Given the description of an element on the screen output the (x, y) to click on. 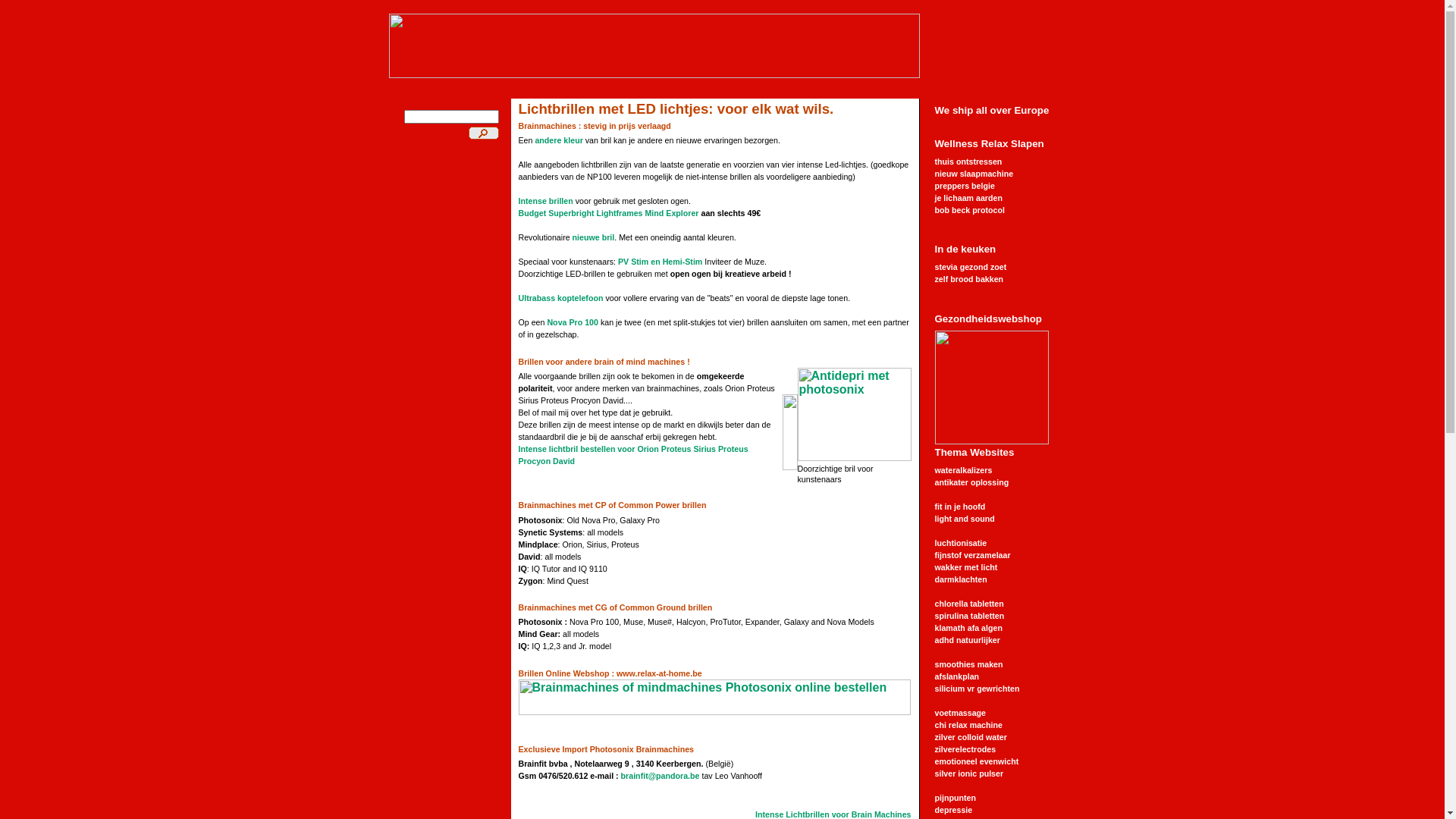
zilver colloid water Element type: text (970, 736)
zelf brood bakken Element type: text (968, 278)
smoothies maken Element type: text (968, 663)
depressie Element type: text (953, 809)
Nova Pro 100 Element type: text (572, 321)
stevia gezond zoet Element type: text (970, 266)
zilverelectrodes Element type: text (964, 748)
Budget Superbright Lightframes Mind Explorer Element type: text (608, 212)
afslankplan Element type: text (956, 675)
light and sound Element type: text (964, 518)
luchtionisatie Element type: text (960, 542)
chi relax machine Element type: text (967, 724)
pijnpunten Element type: text (954, 797)
PV Stim en Hemi-Stim Element type: text (660, 261)
bob beck protocol Element type: text (969, 209)
thuis ontstressen Element type: text (967, 161)
preppers belgie Element type: text (964, 185)
Intense brillen Element type: text (545, 200)
brainfit@pandora.be Element type: text (660, 775)
nieuwe bril Element type: text (593, 236)
je lichaam aarden Element type: text (967, 197)
klamath afa algen Element type: text (967, 627)
darmklachten Element type: text (960, 578)
chlorella tabletten Element type: text (968, 603)
fit in je hoofd Element type: text (959, 506)
fijnstof verzamelaar Element type: text (972, 554)
Ultrabass koptelefoon Element type: text (560, 297)
wateralkalizers Element type: text (962, 469)
silicium vr gewrichten Element type: text (976, 688)
voetmassage Element type: text (959, 712)
andere kleur Element type: text (558, 139)
nieuw slaapmachine Element type: text (973, 173)
adhd natuurlijker Element type: text (966, 639)
wakker met licht Element type: text (965, 566)
silver ionic pulser Element type: text (968, 773)
spirulina tabletten Element type: text (969, 615)
emotioneel evenwicht Element type: text (976, 760)
antikater oplossing Element type: text (971, 481)
